Given the description of an element on the screen output the (x, y) to click on. 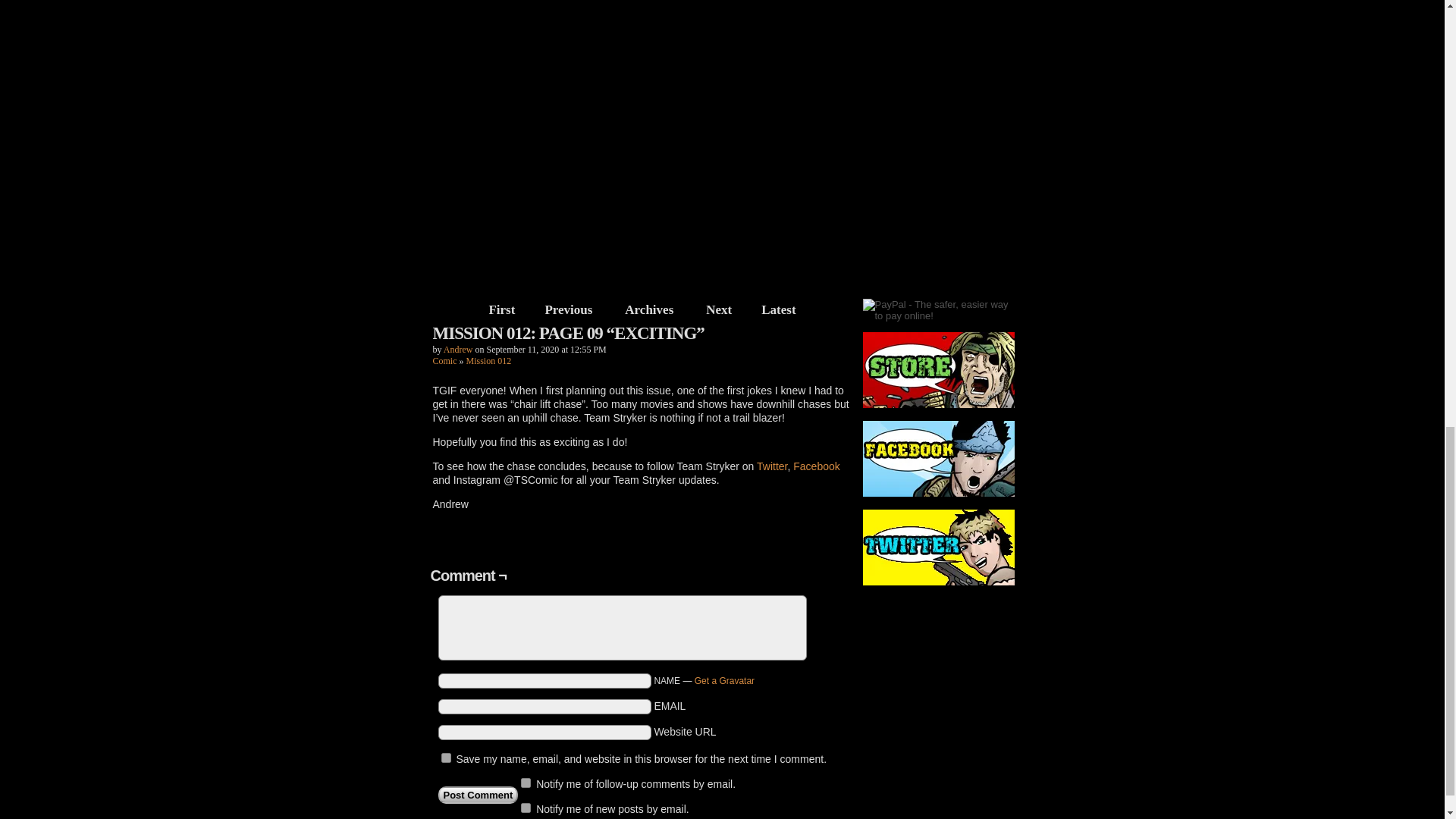
Post Comment (478, 794)
Post Comment (478, 794)
Store (938, 376)
Previous (568, 309)
Latest (778, 309)
Twitter (938, 553)
First (501, 309)
Mission 012 (488, 360)
yes (446, 757)
Get a Gravatar (724, 680)
